Given the description of an element on the screen output the (x, y) to click on. 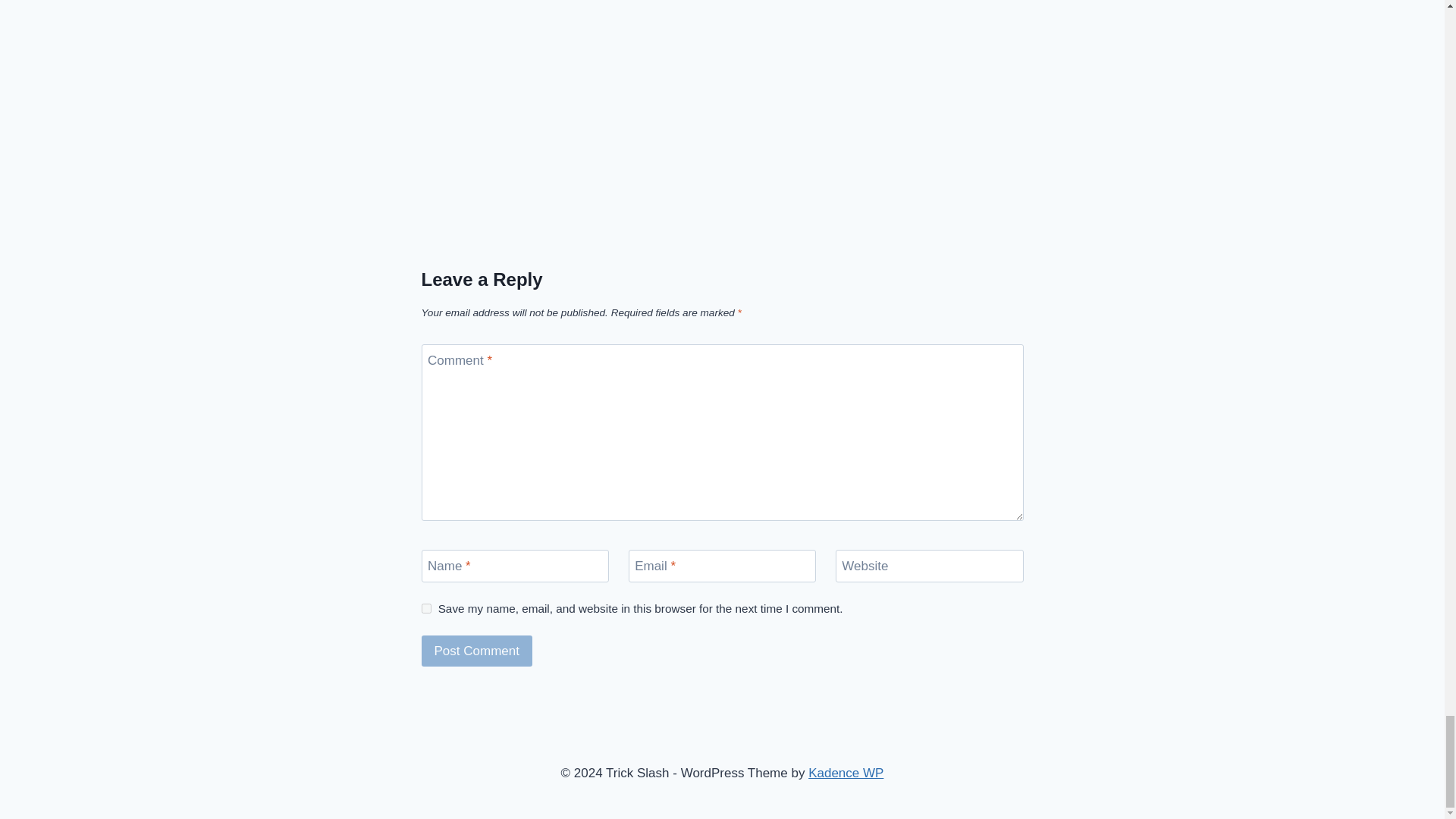
Post Comment (477, 650)
yes (426, 608)
